Given the description of an element on the screen output the (x, y) to click on. 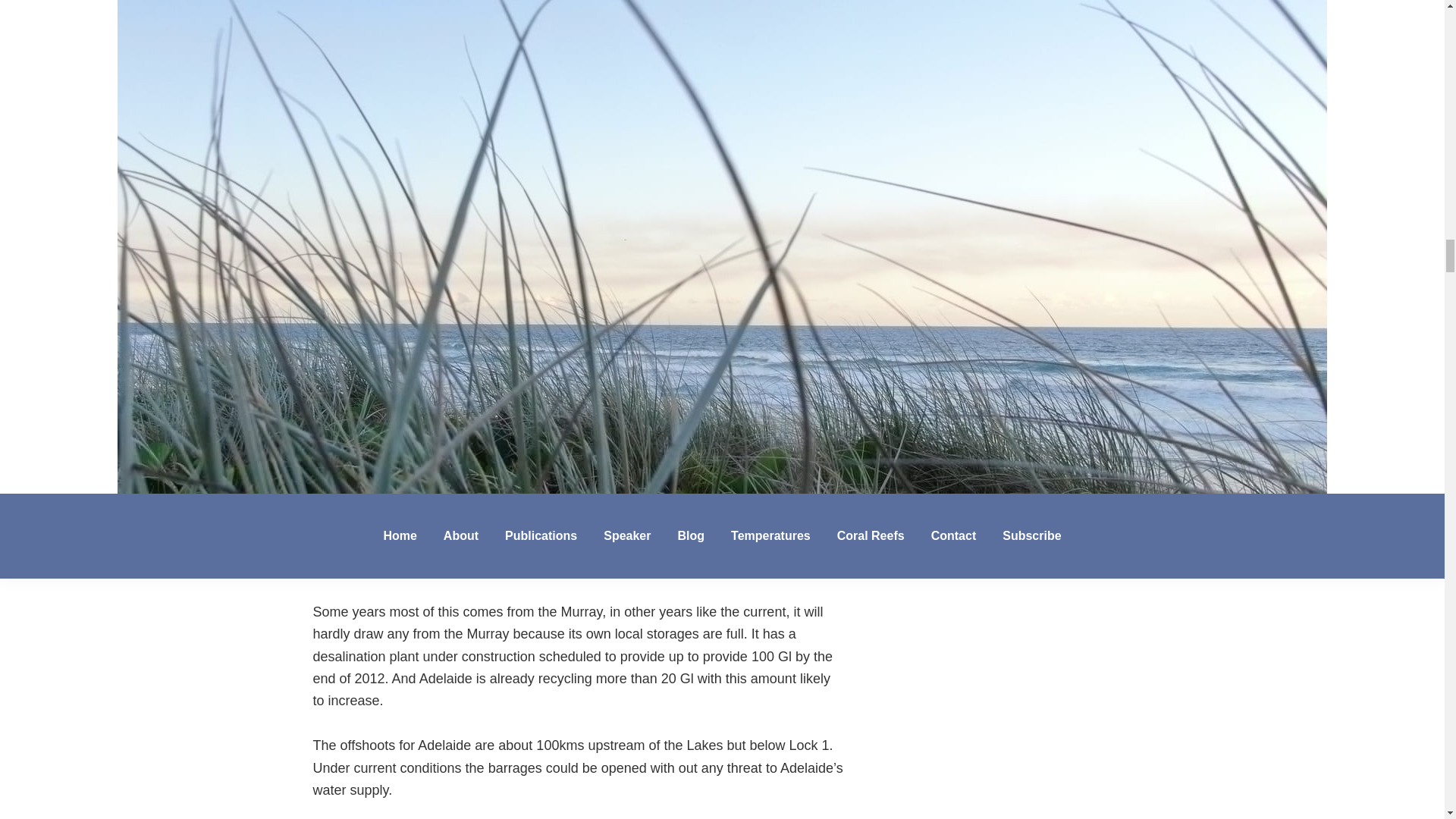
April 14, 2012 at 8:13 pm (445, 476)
April 14, 2012 at 8:08 pm (445, 290)
